Given the description of an element on the screen output the (x, y) to click on. 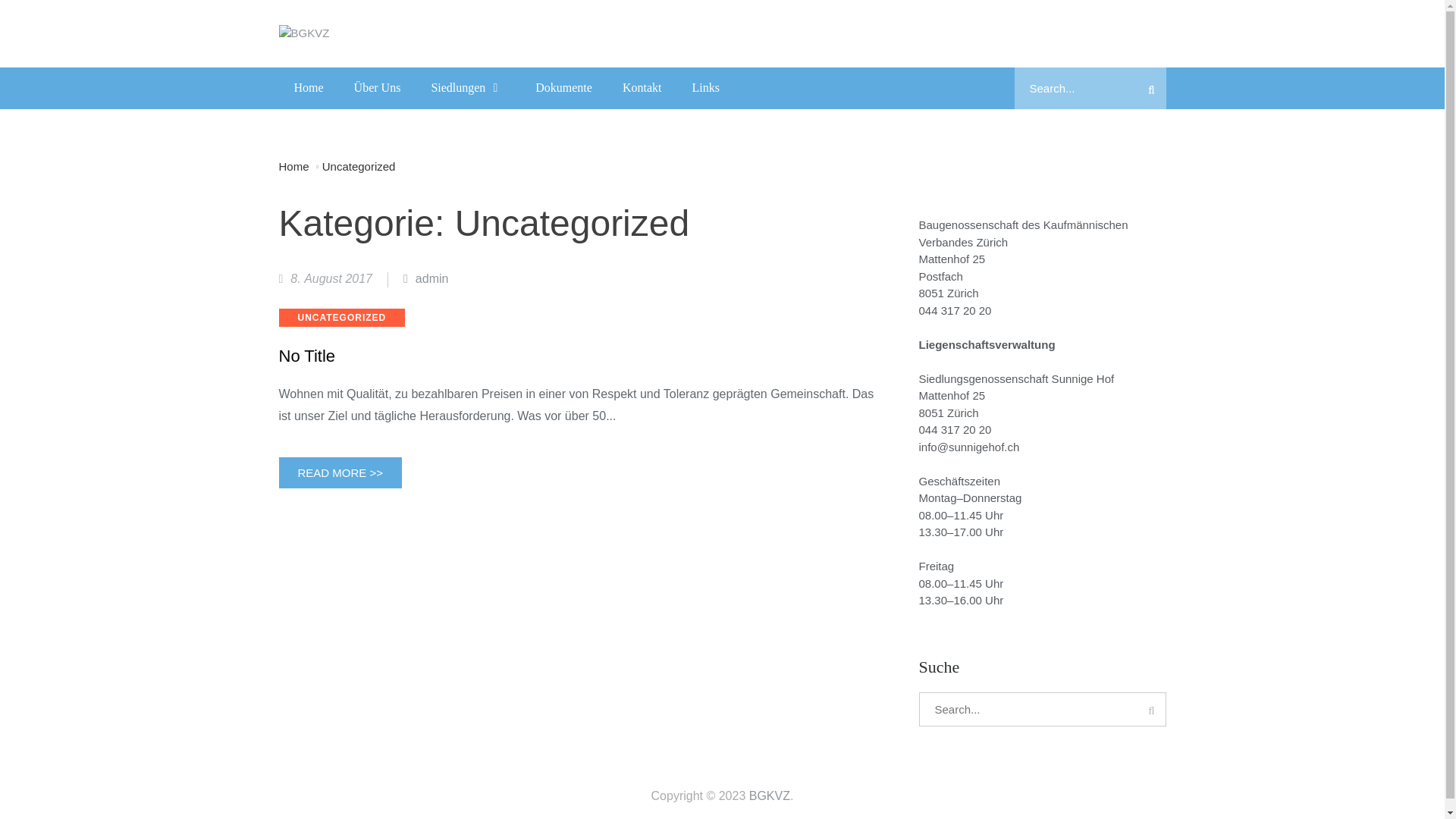
No Title Element type: text (580, 356)
Search Element type: text (1150, 709)
Dokumente Element type: text (563, 86)
Kontakt Element type: text (642, 86)
Home Element type: text (300, 165)
READ MORE >> Element type: text (340, 472)
Home Element type: text (308, 86)
Siedlungen Element type: text (467, 86)
Search Element type: text (1150, 87)
admin Element type: text (425, 278)
BGKVZ Element type: text (769, 795)
UNCATEGORIZED Element type: text (342, 317)
8. August 2017 Element type: text (325, 278)
Links Element type: text (705, 86)
